Given the description of an element on the screen output the (x, y) to click on. 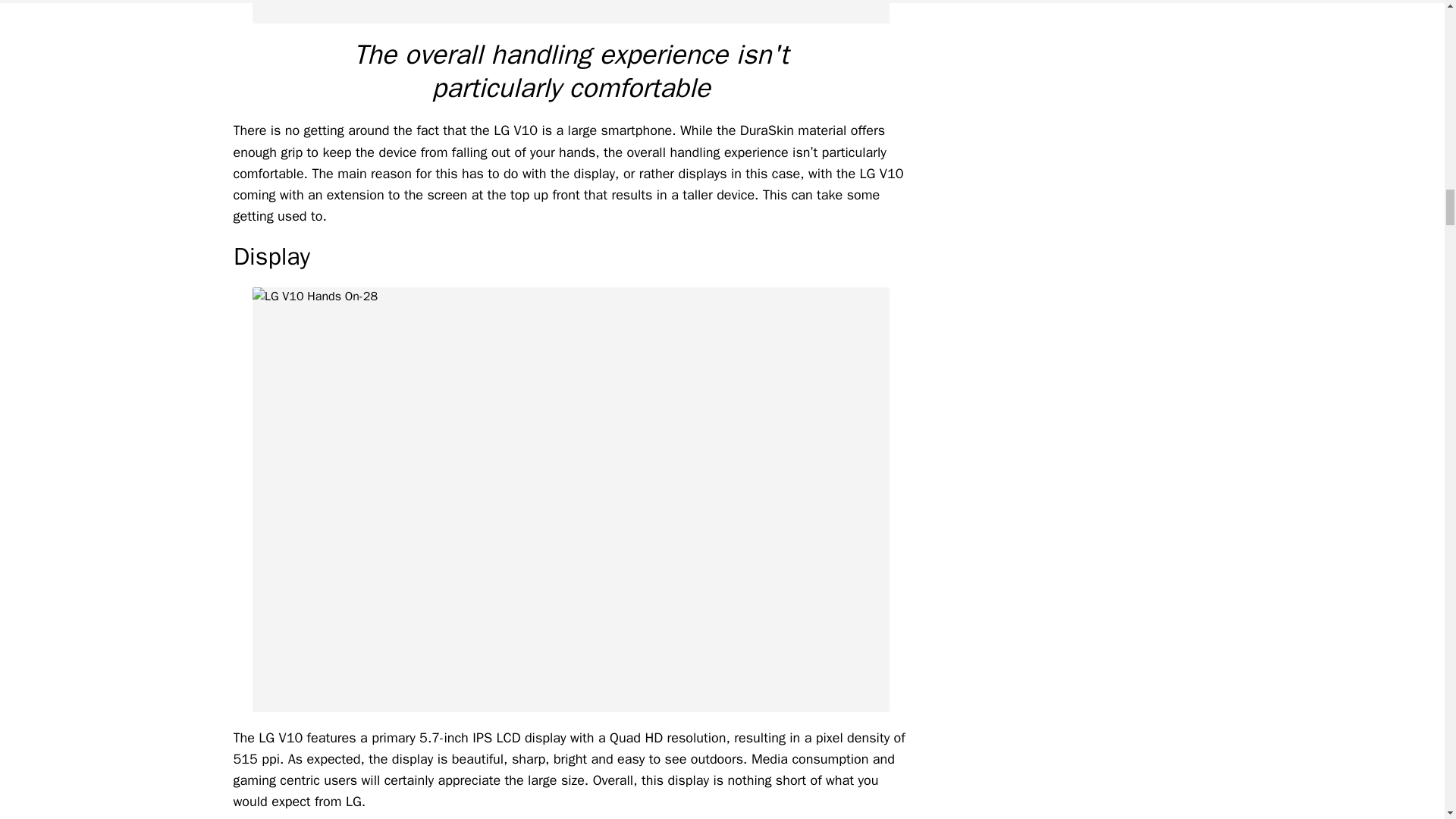
LG V10 Hands On-13 (569, 11)
